Given the description of an element on the screen output the (x, y) to click on. 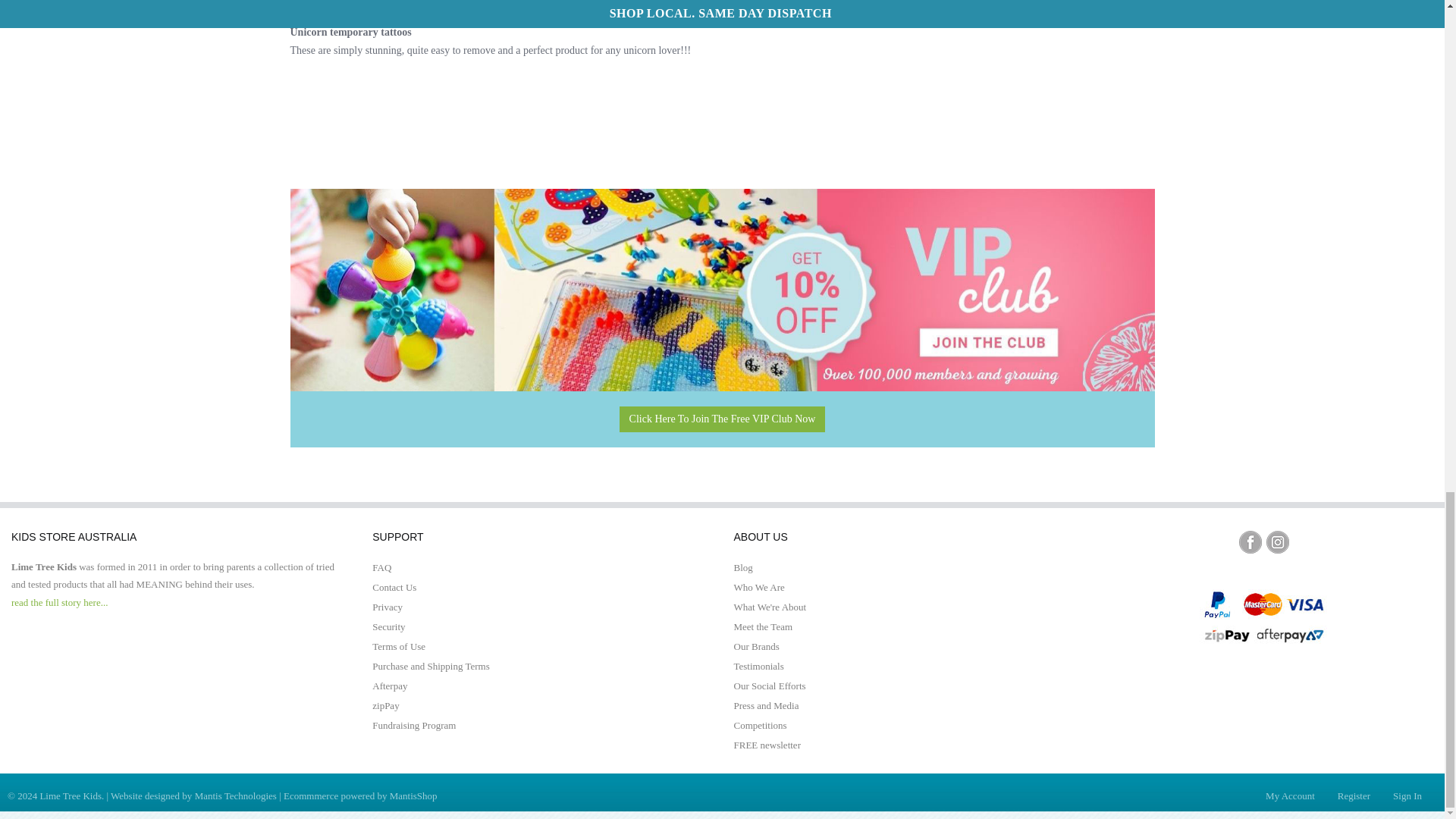
5 (298, 2)
Lime Tree Kids on Facebook (1250, 541)
5 (314, 2)
5 (359, 2)
5 (329, 2)
5 (344, 2)
